Given the description of an element on the screen output the (x, y) to click on. 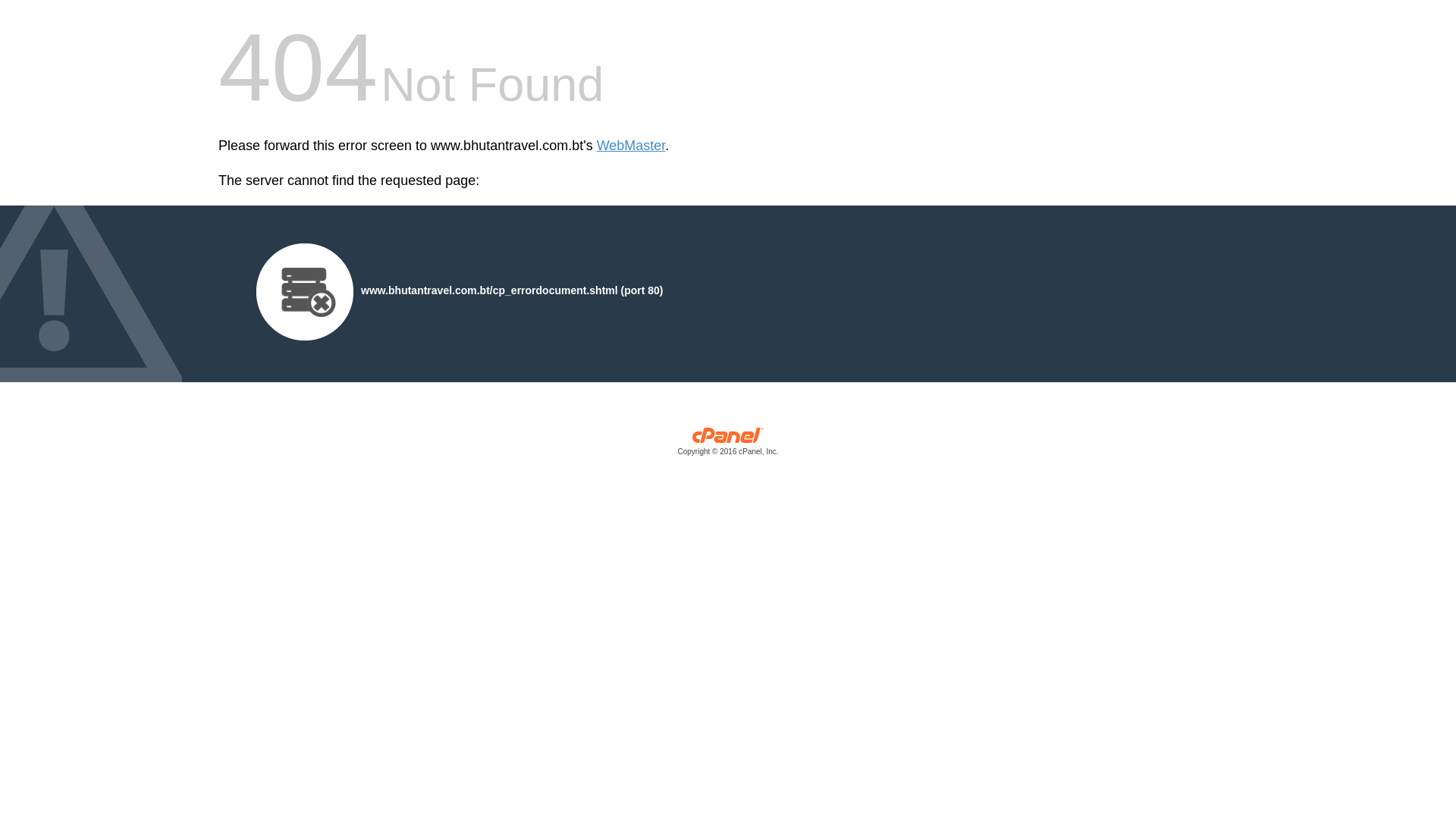
WebMaster Element type: text (630, 145)
